Given the description of an element on the screen output the (x, y) to click on. 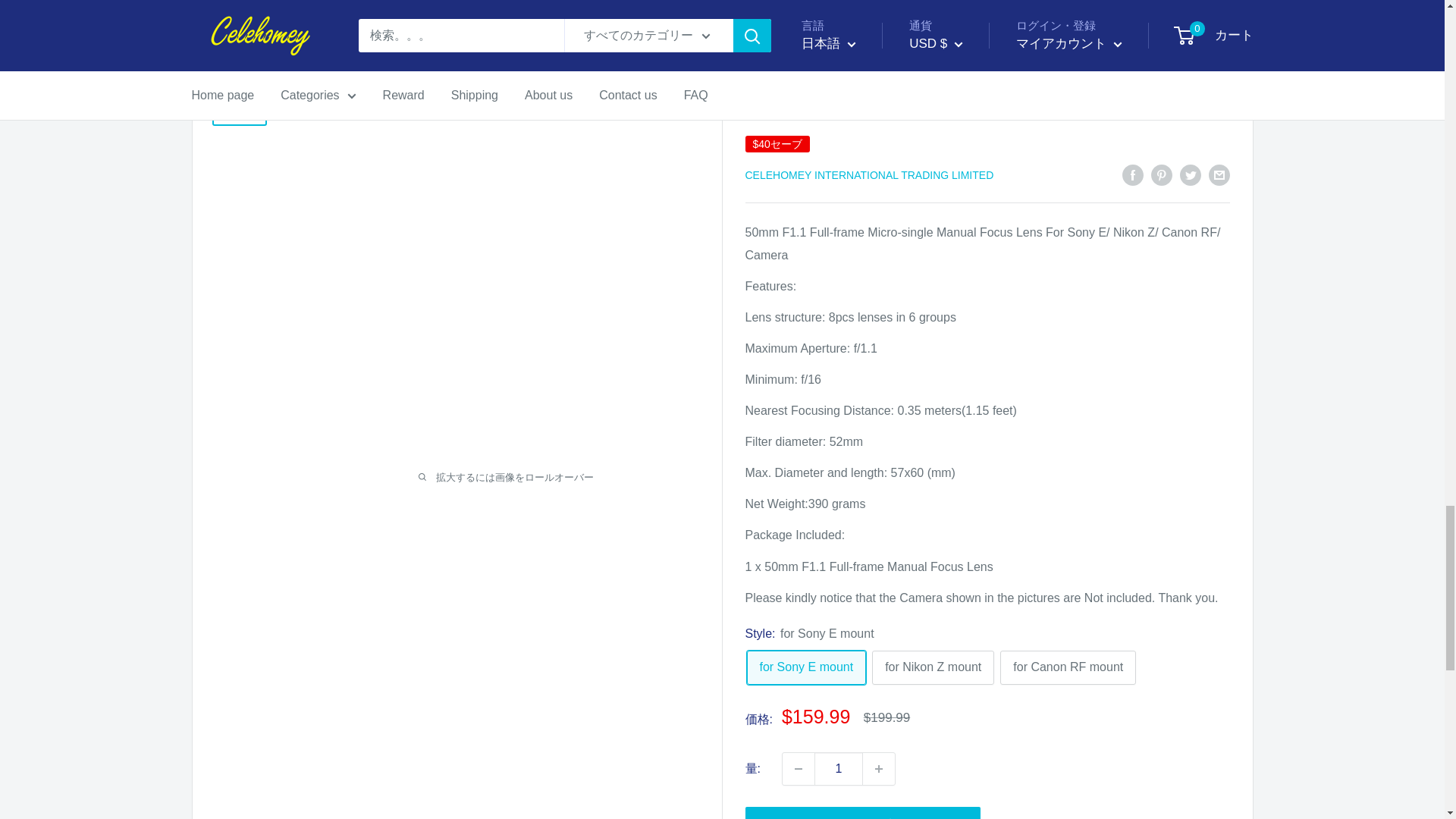
1 (838, 768)
for Nikon Z mount (933, 667)
for Sony E mount (805, 667)
for Canon RF mount (1067, 667)
